Given the description of an element on the screen output the (x, y) to click on. 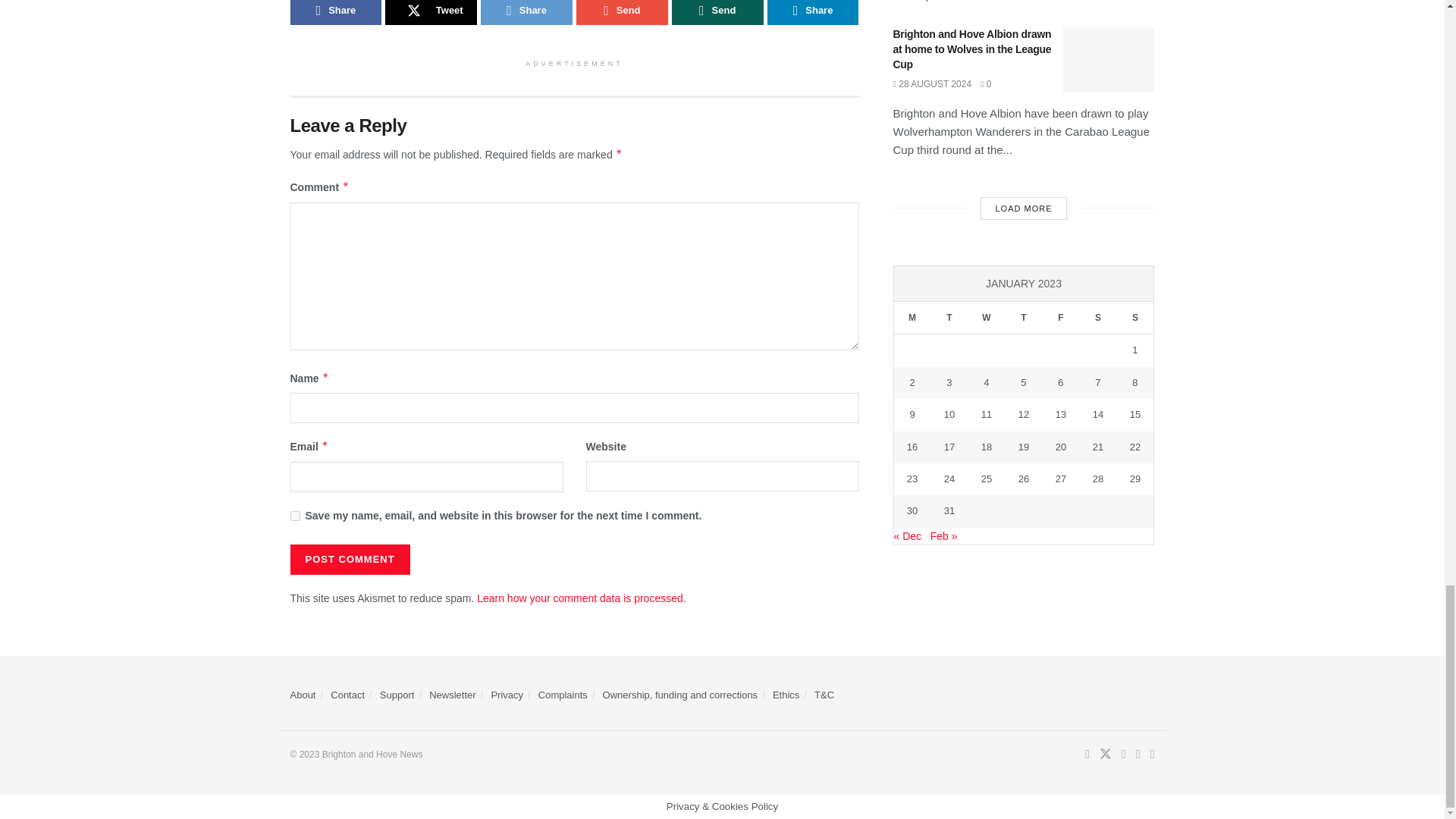
Thursday (1023, 318)
Friday (1060, 318)
Saturday (1097, 318)
yes (294, 515)
Monday (911, 318)
Sunday (1134, 318)
Post Comment (349, 559)
Tuesday (949, 318)
Wednesday (986, 318)
